Given the description of an element on the screen output the (x, y) to click on. 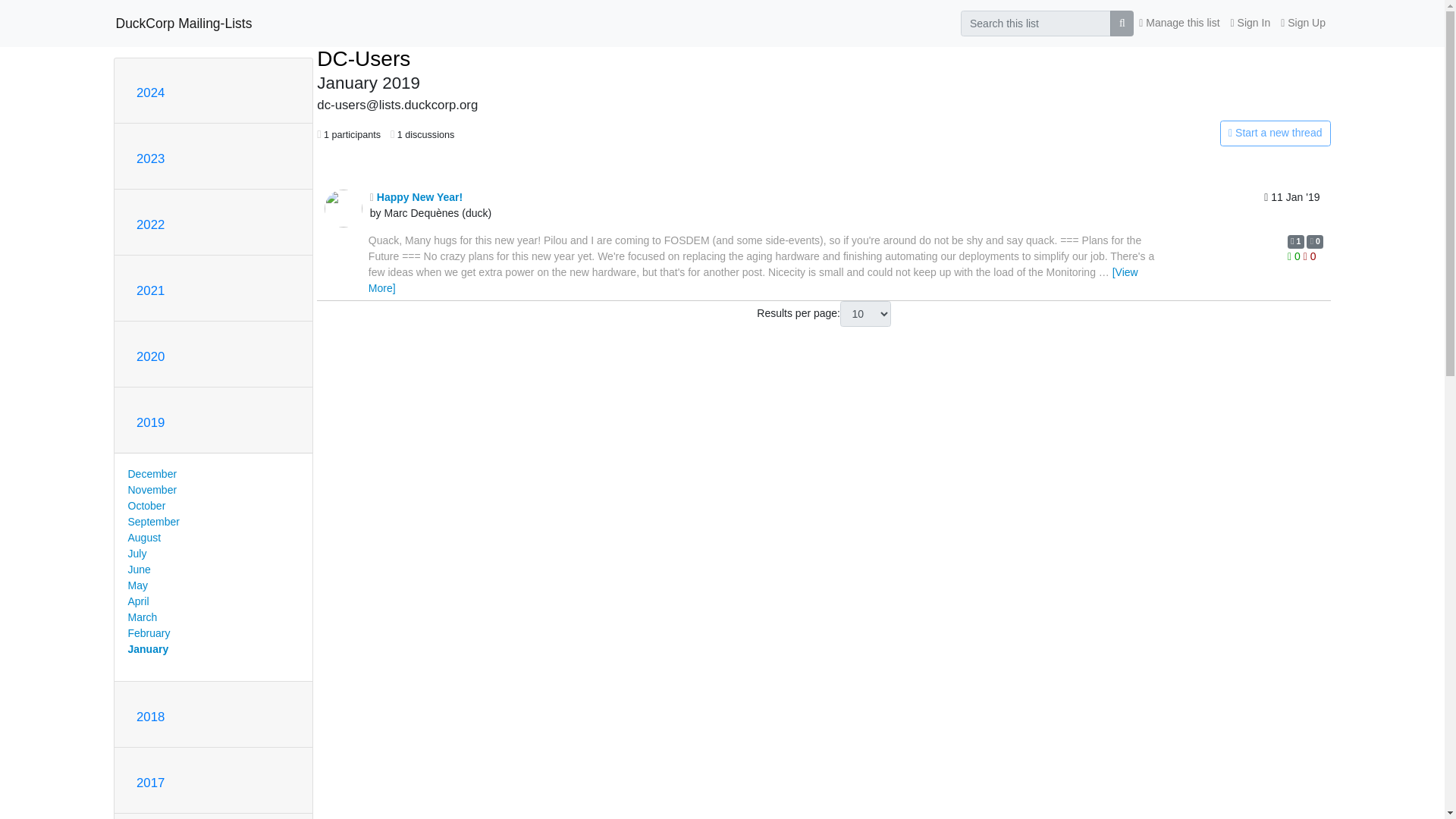
Friday, 11 January 2019 11:57:57 (1291, 208)
2023 (150, 158)
Manage this list (1179, 22)
You must be logged-in to vote. (1309, 256)
Sign In (1250, 22)
Sign Up (1302, 22)
2024 (150, 92)
You must be logged-in to create a thread. (1162, 133)
DuckCorp Mailing-Lists (183, 22)
2022 (150, 224)
